Given the description of an element on the screen output the (x, y) to click on. 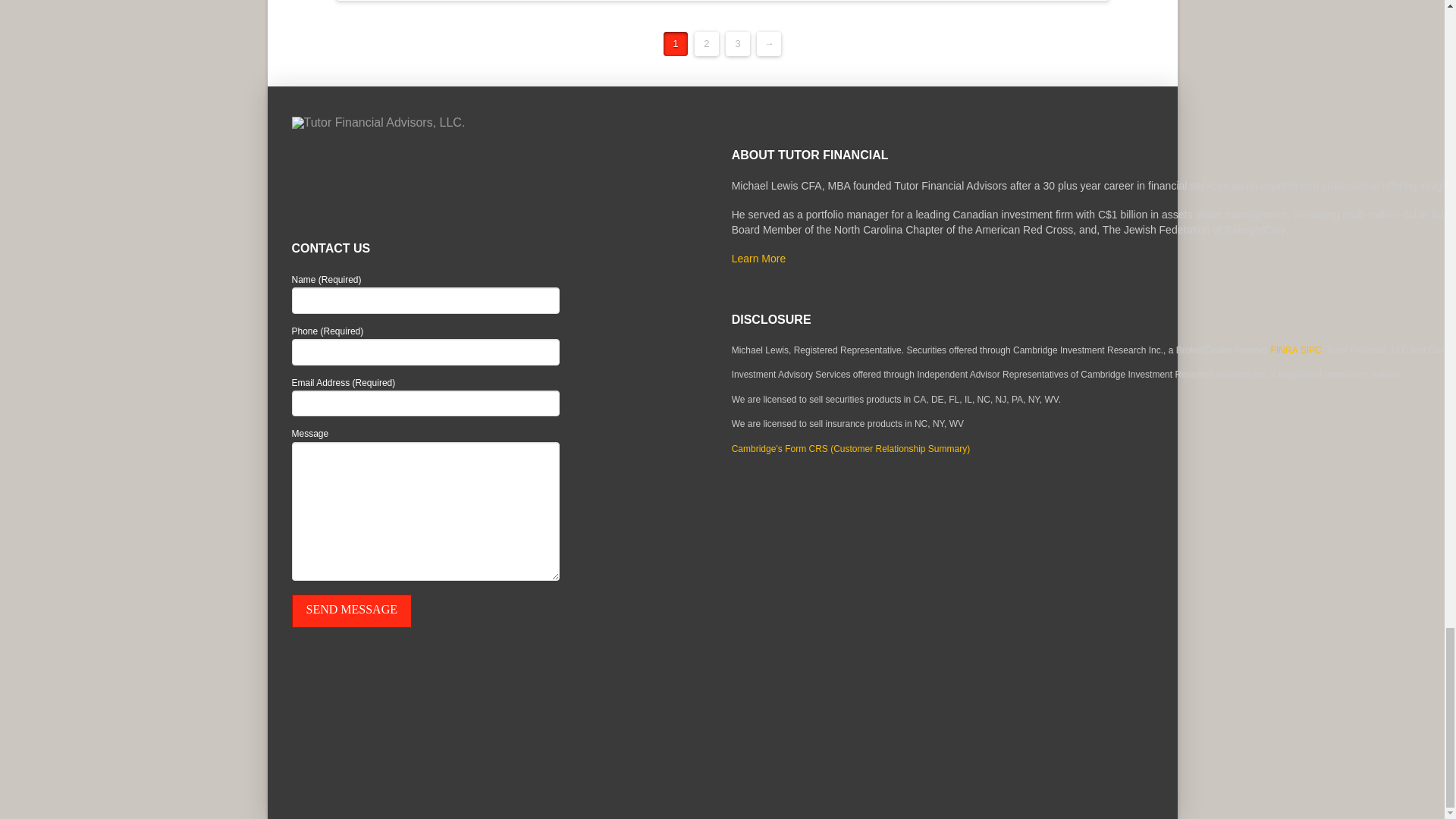
Send Message (350, 611)
